Given the description of an element on the screen output the (x, y) to click on. 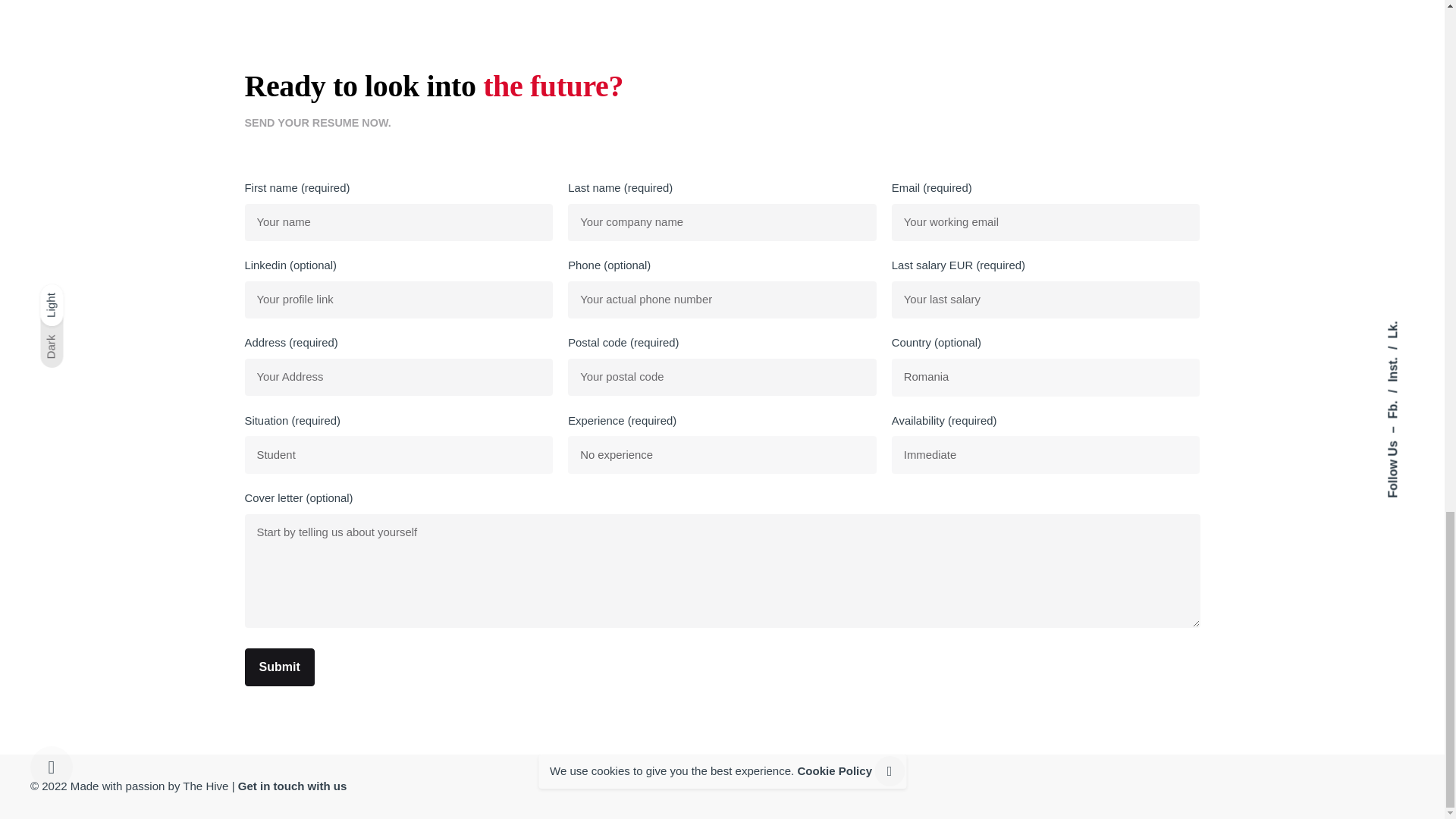
Submit (279, 667)
Get in touch with us (292, 785)
Submit (279, 667)
The Hive (205, 785)
